Given the description of an element on the screen output the (x, y) to click on. 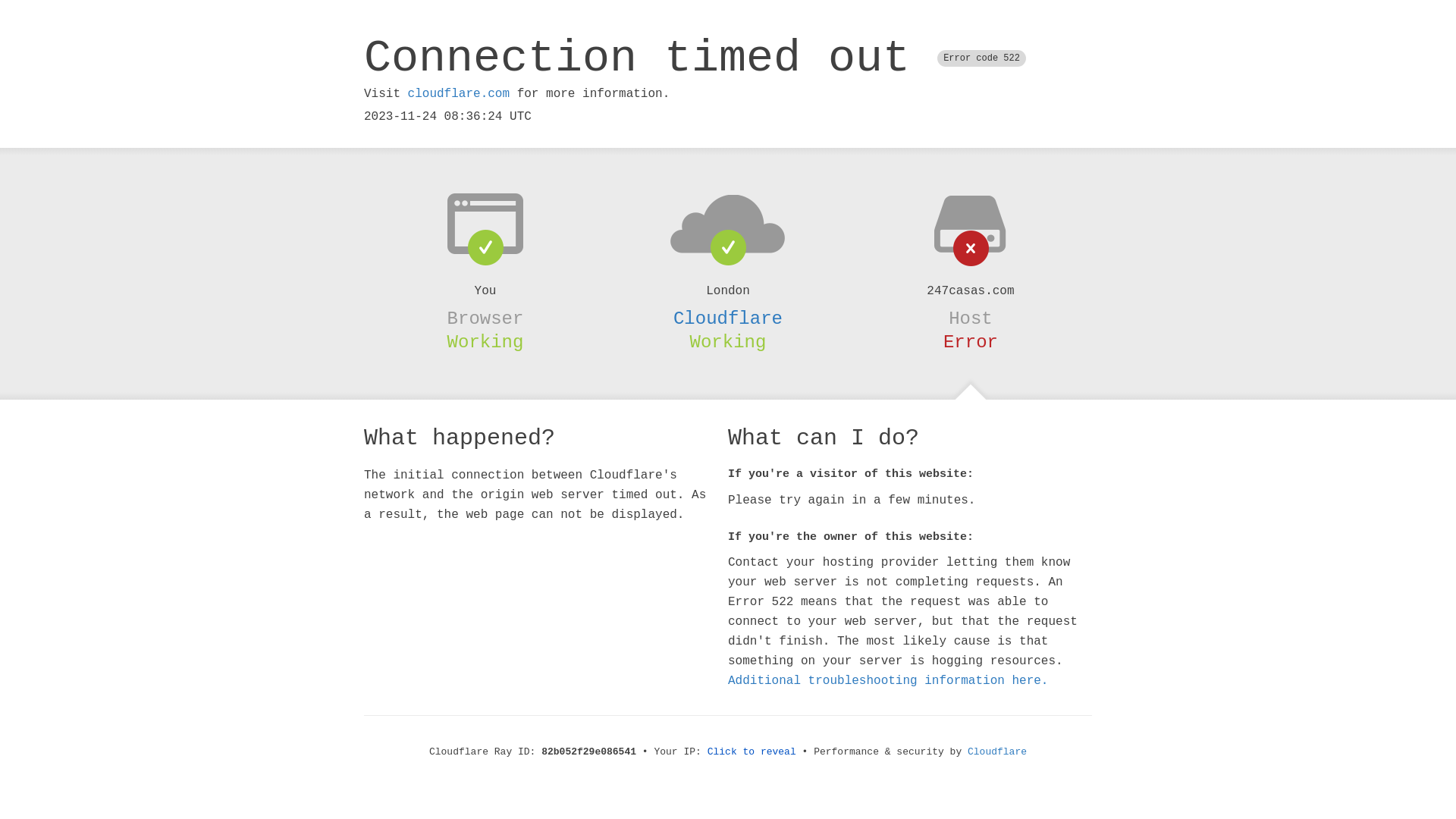
Additional troubleshooting information here. Element type: text (888, 680)
Cloudflare Element type: text (996, 751)
cloudflare.com Element type: text (458, 93)
Click to reveal Element type: text (751, 751)
Cloudflare Element type: text (727, 318)
